Given the description of an element on the screen output the (x, y) to click on. 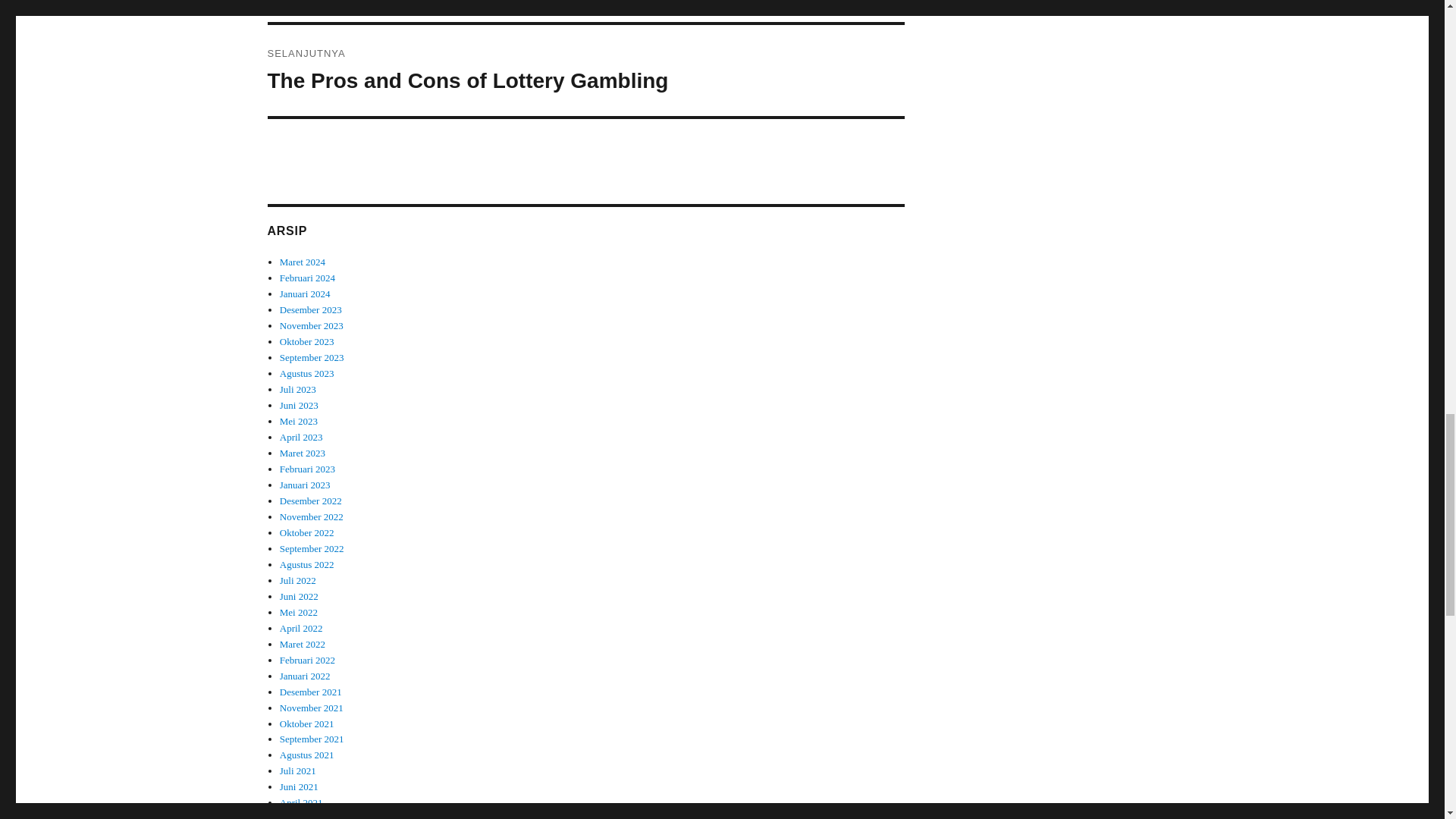
April 2022 (301, 627)
Februari 2024 (306, 277)
Januari 2024 (304, 293)
Oktober 2022 (306, 532)
Februari 2023 (306, 469)
Juli 2022 (297, 580)
Desember 2023 (310, 309)
Juni 2023 (298, 405)
Maret 2023 (301, 452)
April 2023 (301, 437)
Maret 2024 (301, 261)
Agustus 2023 (306, 373)
September 2022 (311, 548)
Oktober 2023 (306, 341)
